Given the description of an element on the screen output the (x, y) to click on. 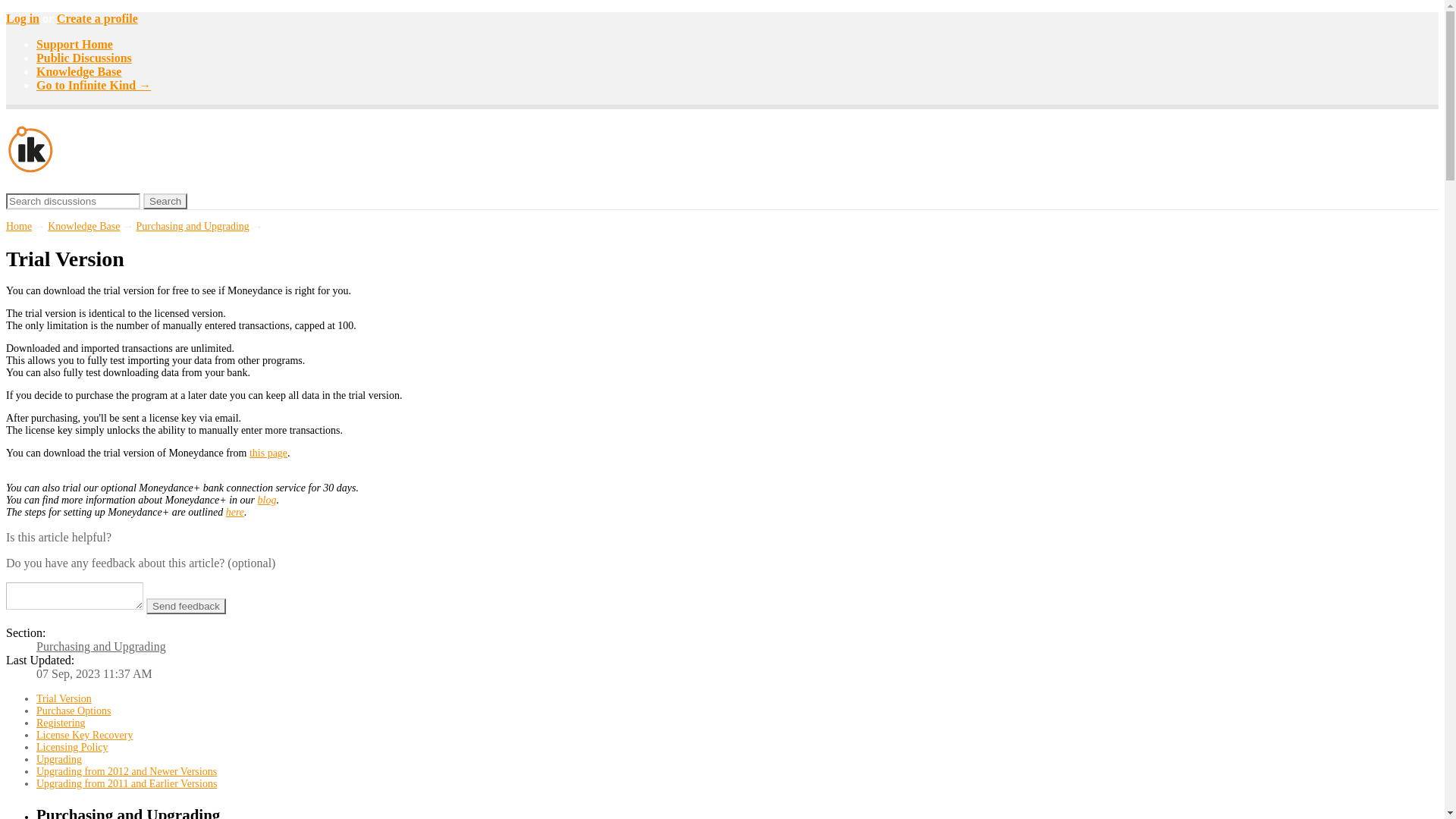
this page (267, 452)
Upgrading (58, 758)
License Key Recovery (84, 735)
Purchase Options (73, 710)
Send feedback (186, 606)
Purchasing and Upgrading (100, 645)
Log in (22, 18)
blog (266, 500)
Search (164, 201)
Infinite Kind Support (30, 167)
Licensing Policy (71, 747)
Trial Version (63, 698)
Knowledge Base (78, 71)
Home (18, 225)
Upgrading from 2012 and Newer Versions (126, 771)
